Given the description of an element on the screen output the (x, y) to click on. 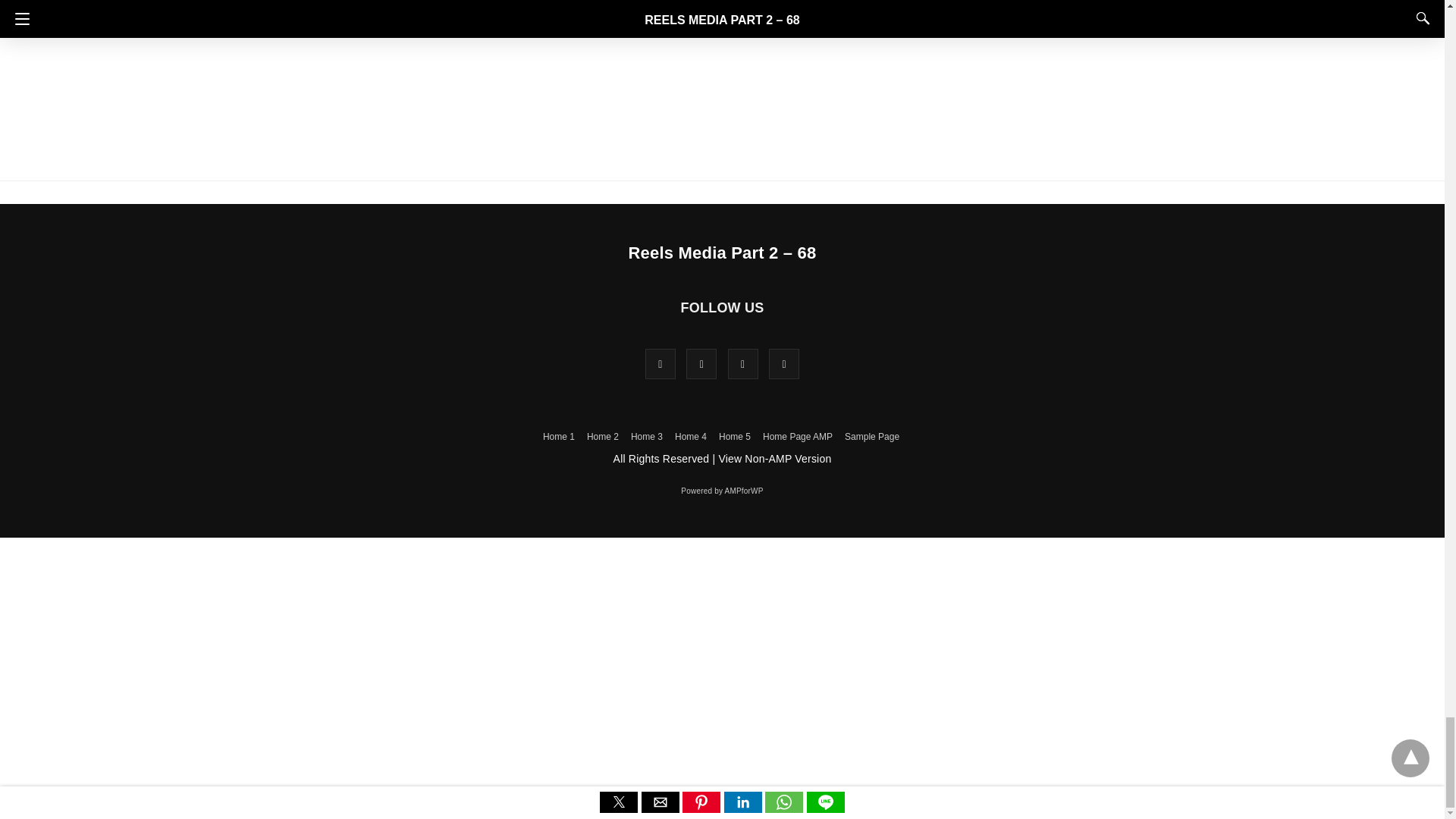
View Non-AMP Version (774, 458)
Sample Page (871, 436)
Home 2 (602, 436)
Home 5 (735, 436)
Home 3 (646, 436)
Home 4 (690, 436)
Home 1 (559, 436)
Powered by AMPforWP (721, 490)
Home Page AMP (797, 436)
